Given the description of an element on the screen output the (x, y) to click on. 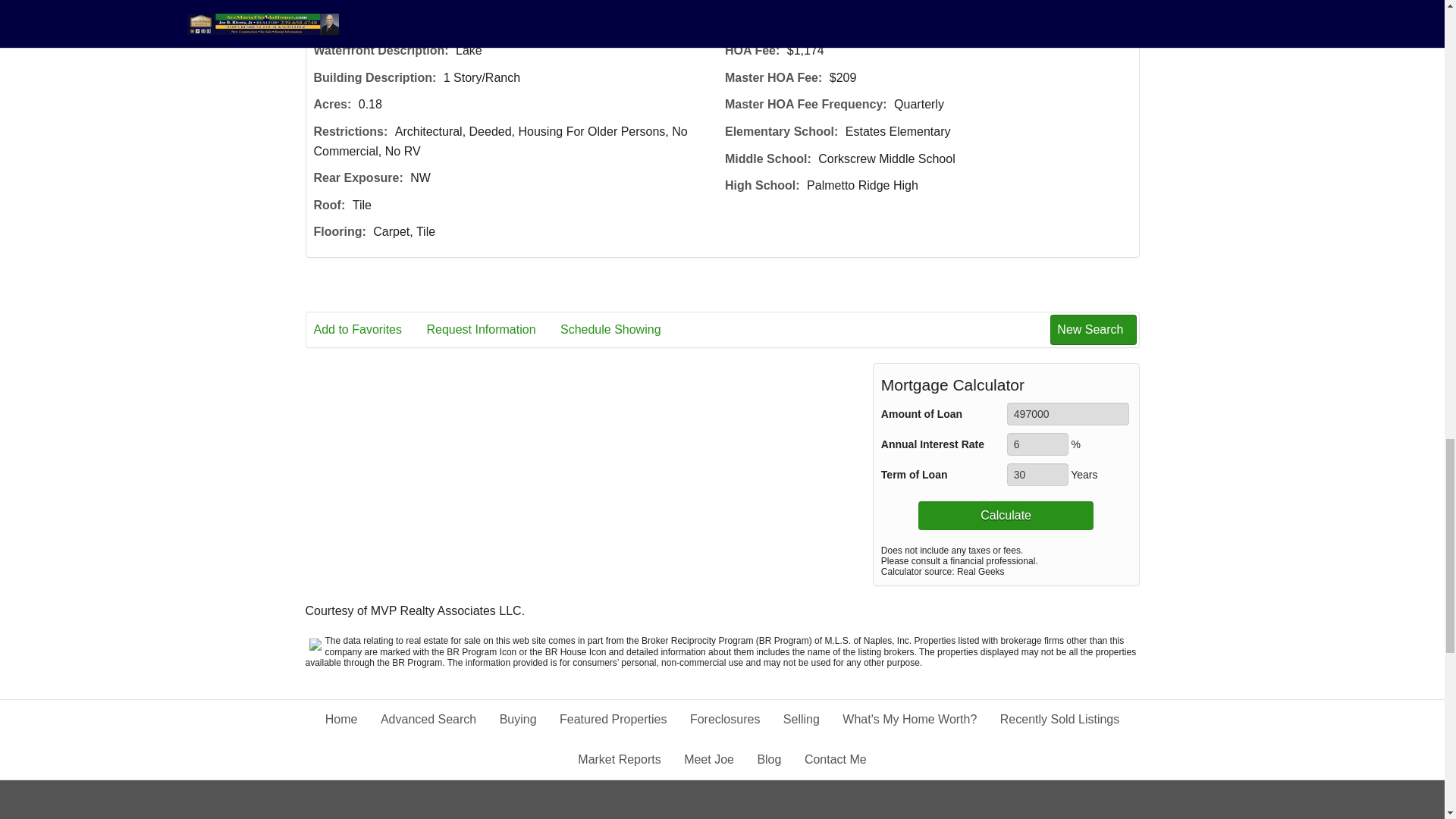
6 (1037, 444)
497000 (1068, 413)
30 (1037, 474)
